Given the description of an element on the screen output the (x, y) to click on. 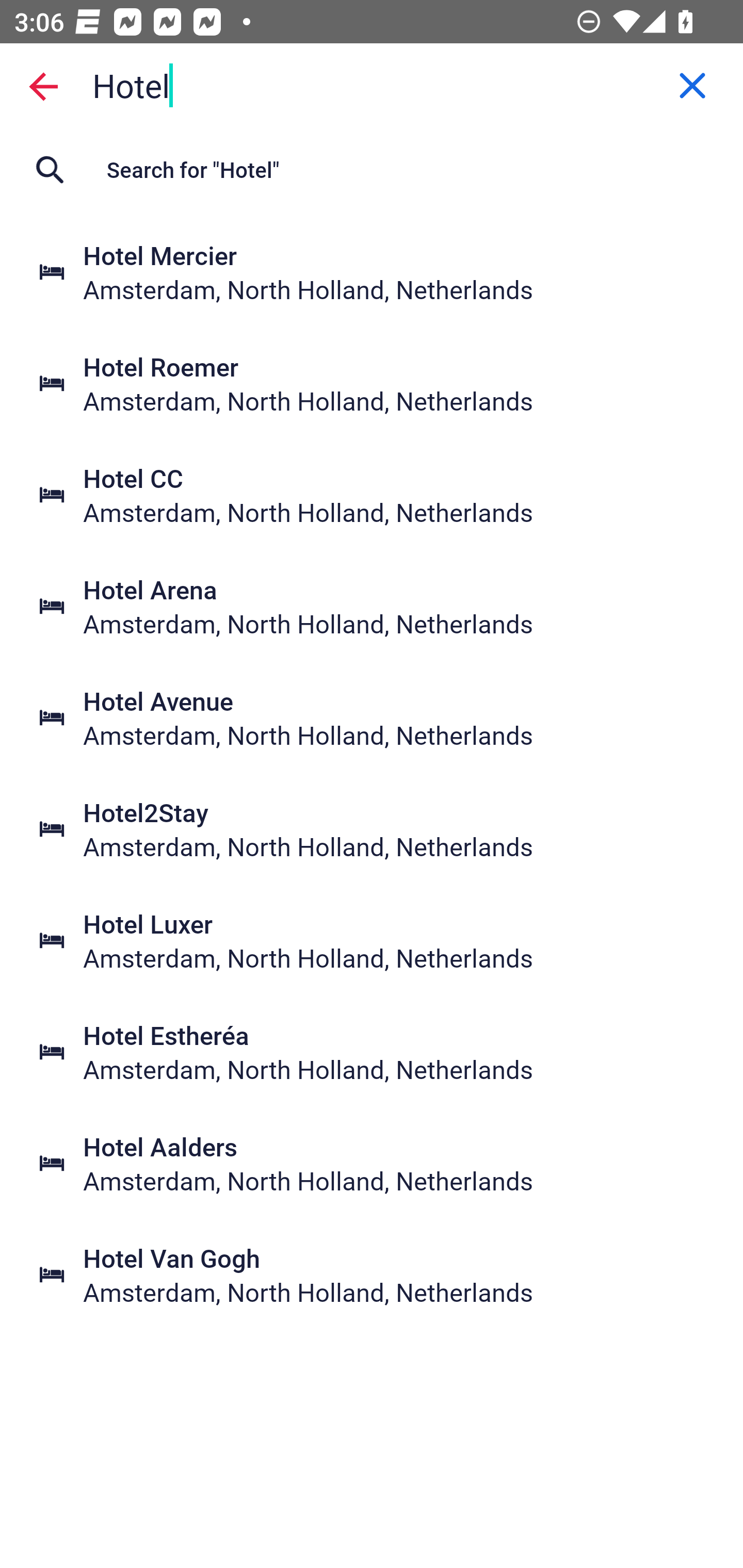
Clear query (692, 85)
Property name, Hotel (371, 85)
Back to search screen (43, 86)
Search for "Hotel" (371, 170)
